Given the description of an element on the screen output the (x, y) to click on. 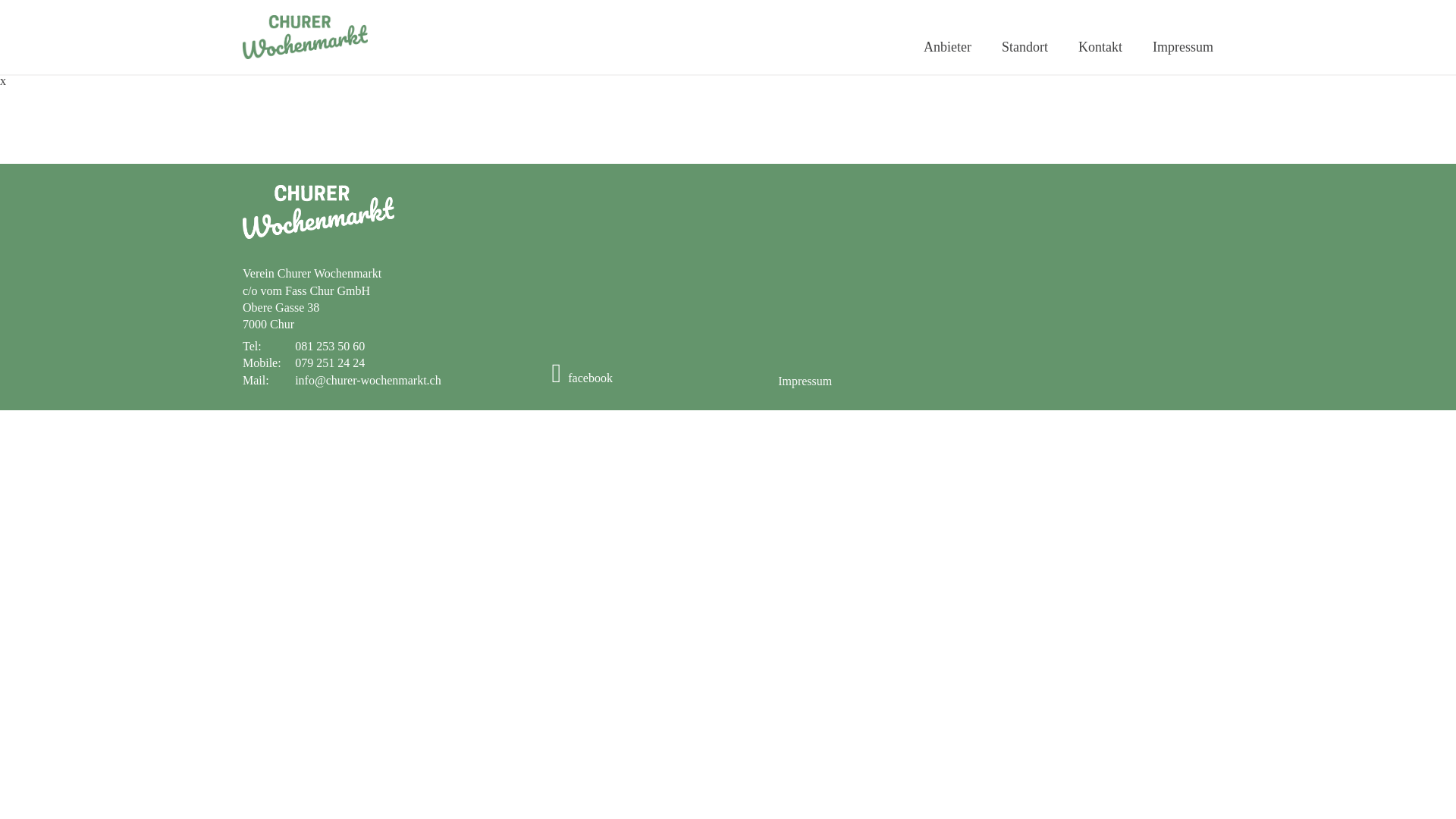
Impressum Element type: text (804, 380)
Impressum Element type: text (1182, 47)
Anbieter Element type: text (947, 47)
Standort Element type: text (1024, 47)
info@churer-wochenmarkt.ch Element type: text (367, 379)
facebook Element type: text (581, 377)
Kontakt Element type: text (1100, 47)
